Given the description of an element on the screen output the (x, y) to click on. 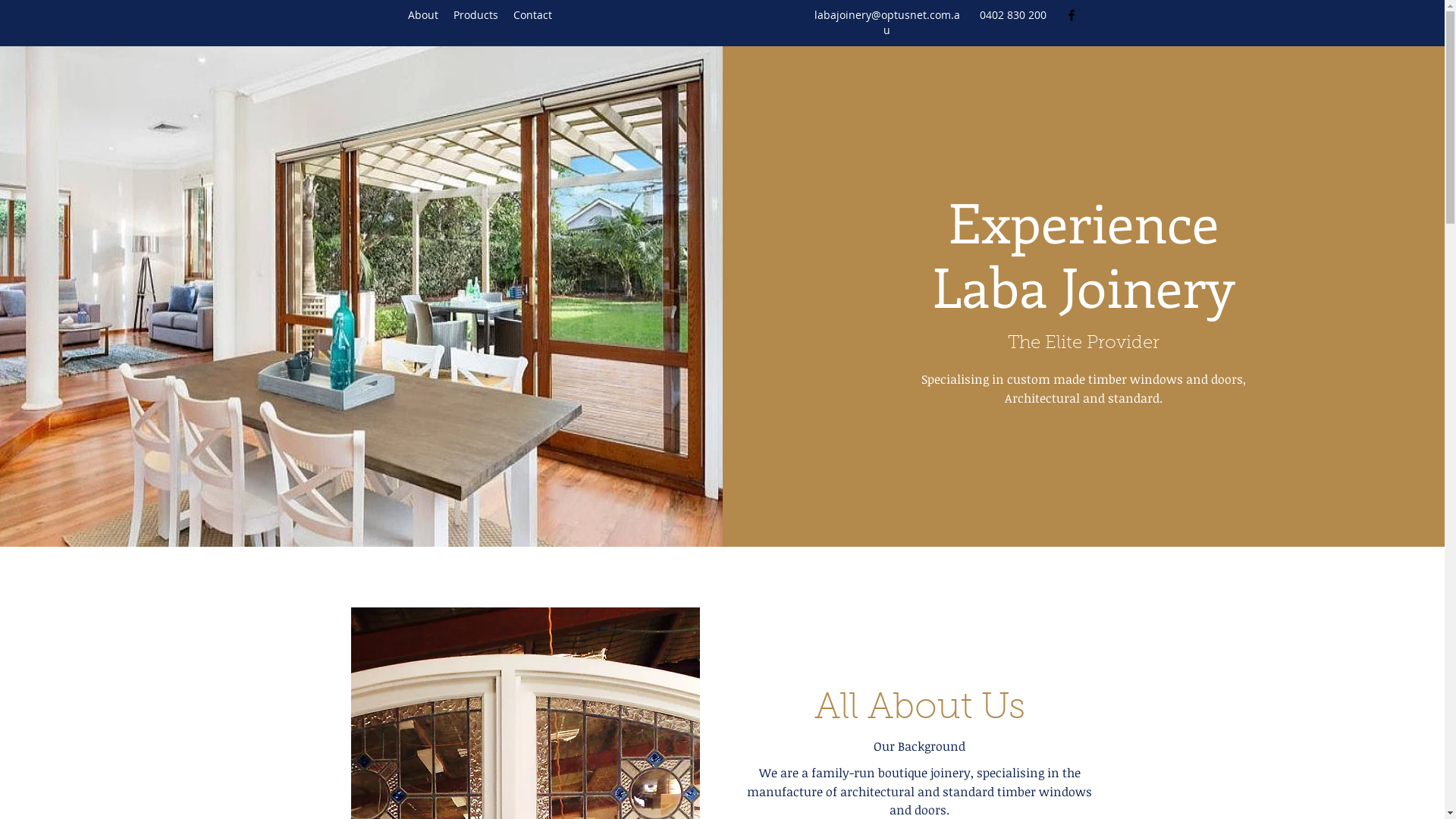
About Element type: text (422, 14)
Products Element type: text (475, 14)
Contact Element type: text (531, 14)
Home Element type: text (376, 14)
labajoinery@optusnet.com.au Element type: text (887, 22)
